Given the description of an element on the screen output the (x, y) to click on. 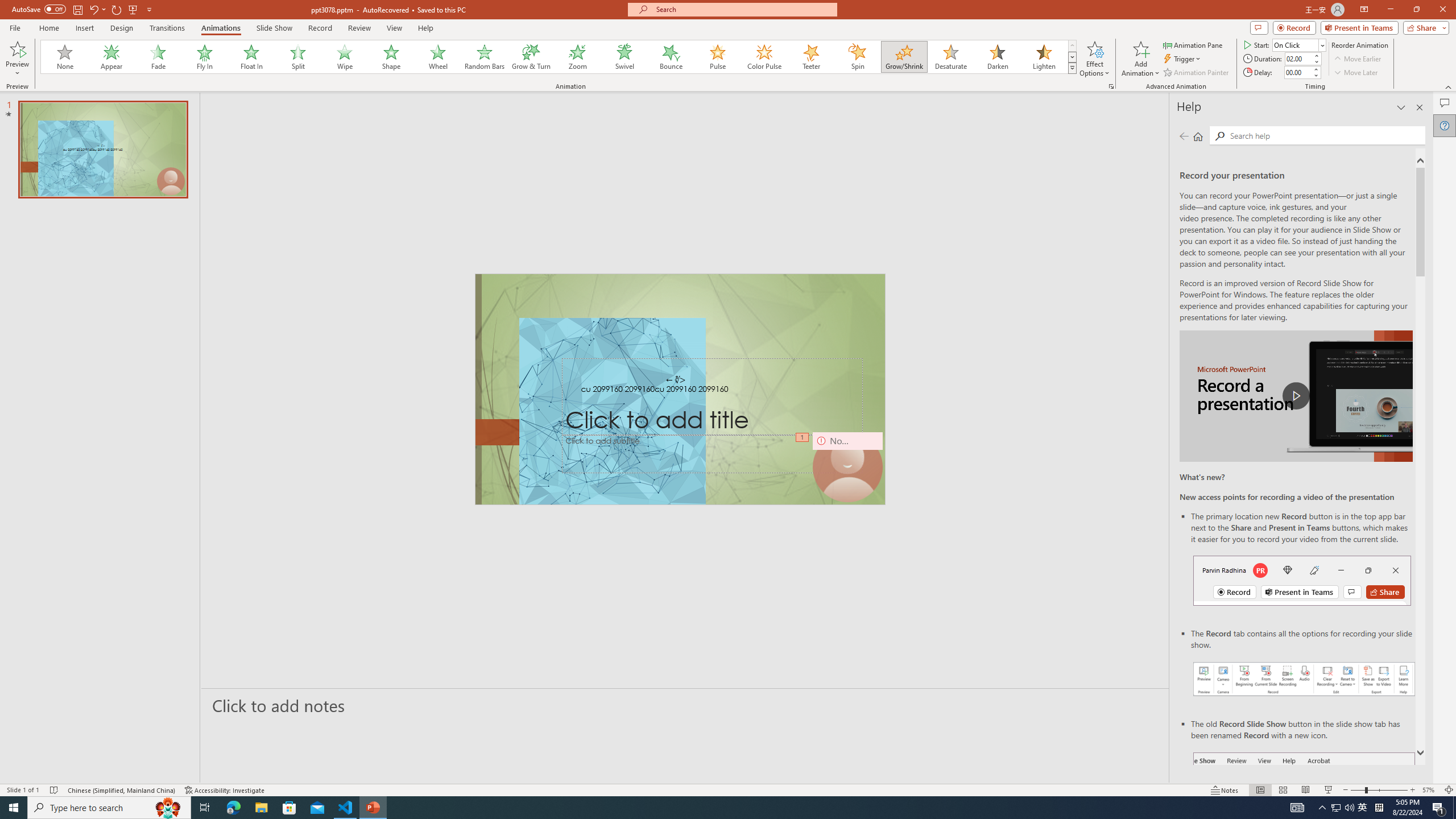
play Record a Presentation (1296, 395)
Desaturate (950, 56)
Camera 9, No camera detected. (846, 466)
Wipe (344, 56)
Subtitle TextBox (712, 453)
